Given the description of an element on the screen output the (x, y) to click on. 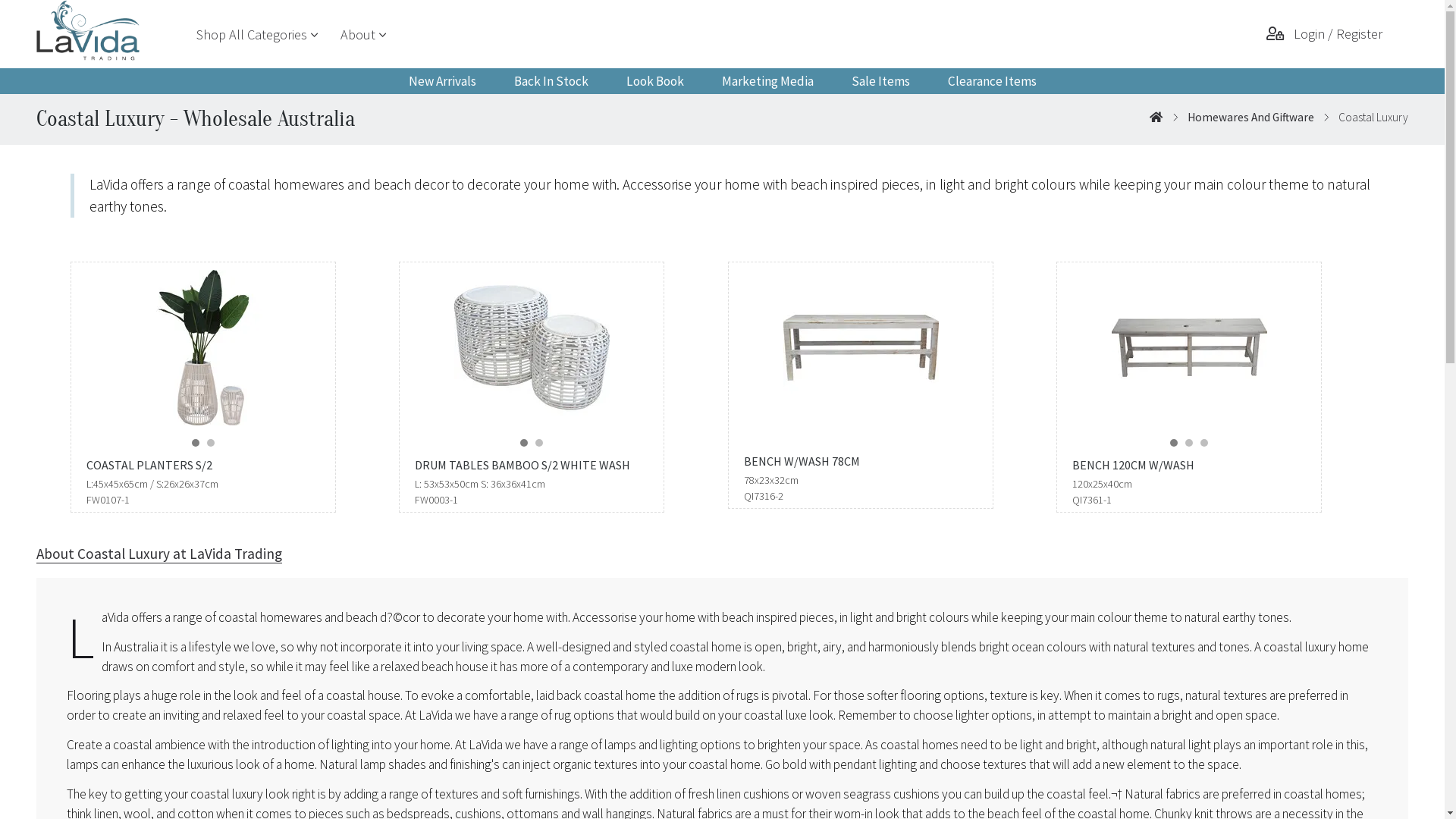
Login / Register Element type: text (1326, 33)
Code FW0003-1 Element type: hover (531, 343)
Homewares And Giftware Element type: text (1250, 116)
Code QI7361-1 Element type: hover (1188, 343)
Code FW0107-1 Element type: hover (202, 343)
COASTAL PLANTERS S/2 Element type: text (203, 465)
Back In Stock Element type: text (550, 81)
Marketing Media Element type: text (766, 81)
Clearance Items Element type: text (991, 81)
Code QI7316-2 Element type: hover (859, 343)
Look Book Element type: text (654, 81)
DRUM TABLES BAMBOO S/2 WHITE WASH Element type: text (531, 465)
About Element type: text (357, 34)
About Coastal Luxury at LaVida Trading Element type: text (159, 554)
BENCH 120CM W/WASH Element type: text (1188, 465)
Shop All Categories Element type: text (251, 34)
BENCH W/WASH 78CM Element type: text (860, 461)
Sale Items Element type: text (880, 81)
New Arrivals Element type: text (442, 81)
